Given the description of an element on the screen output the (x, y) to click on. 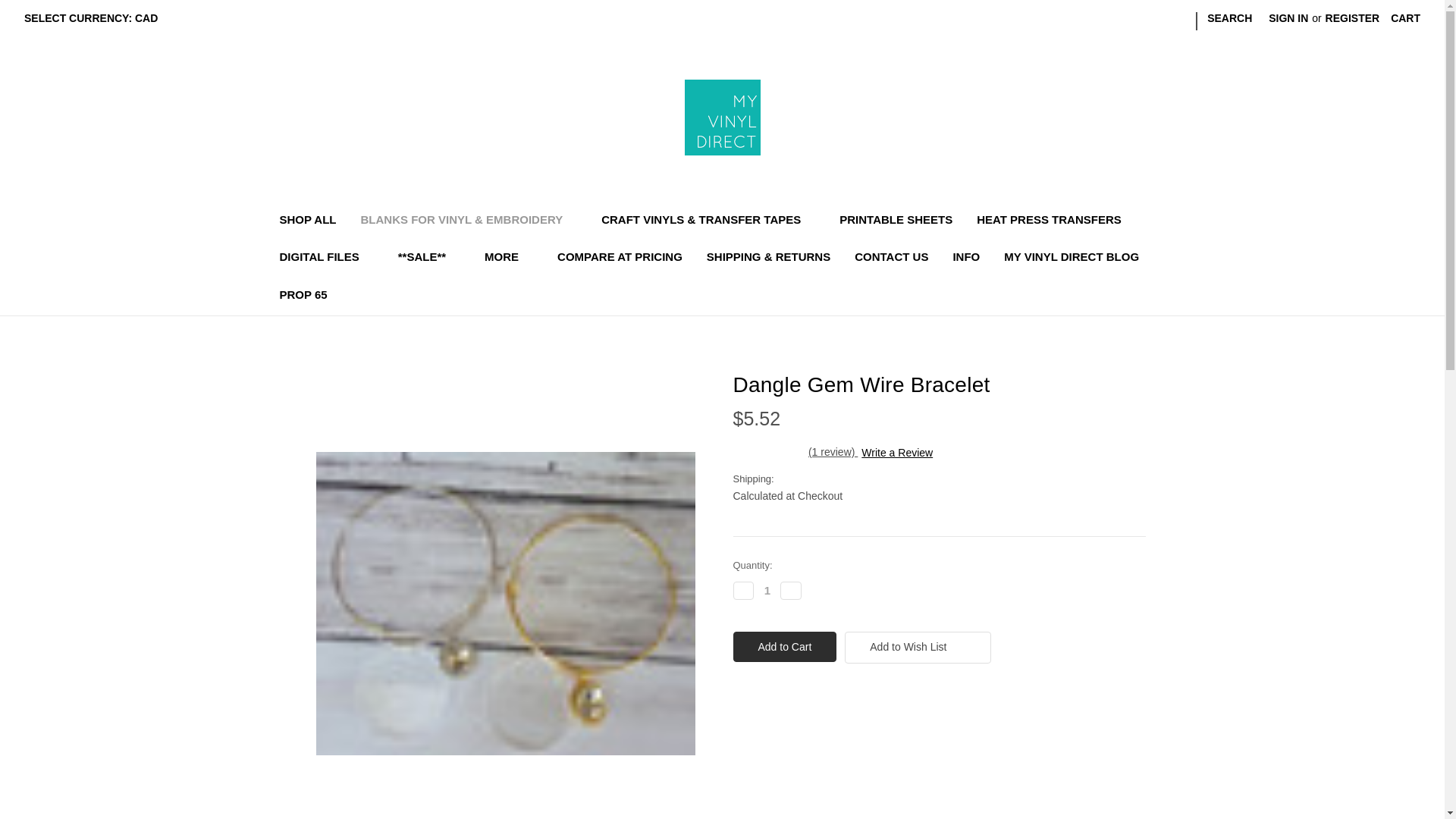
SEARCH (1229, 18)
SHOP ALL (306, 221)
SELECT CURRENCY: CAD (96, 18)
Add to Cart (783, 646)
SIGN IN (1288, 18)
1 (767, 590)
CART (1404, 18)
REGISTER (1353, 18)
